Given the description of an element on the screen output the (x, y) to click on. 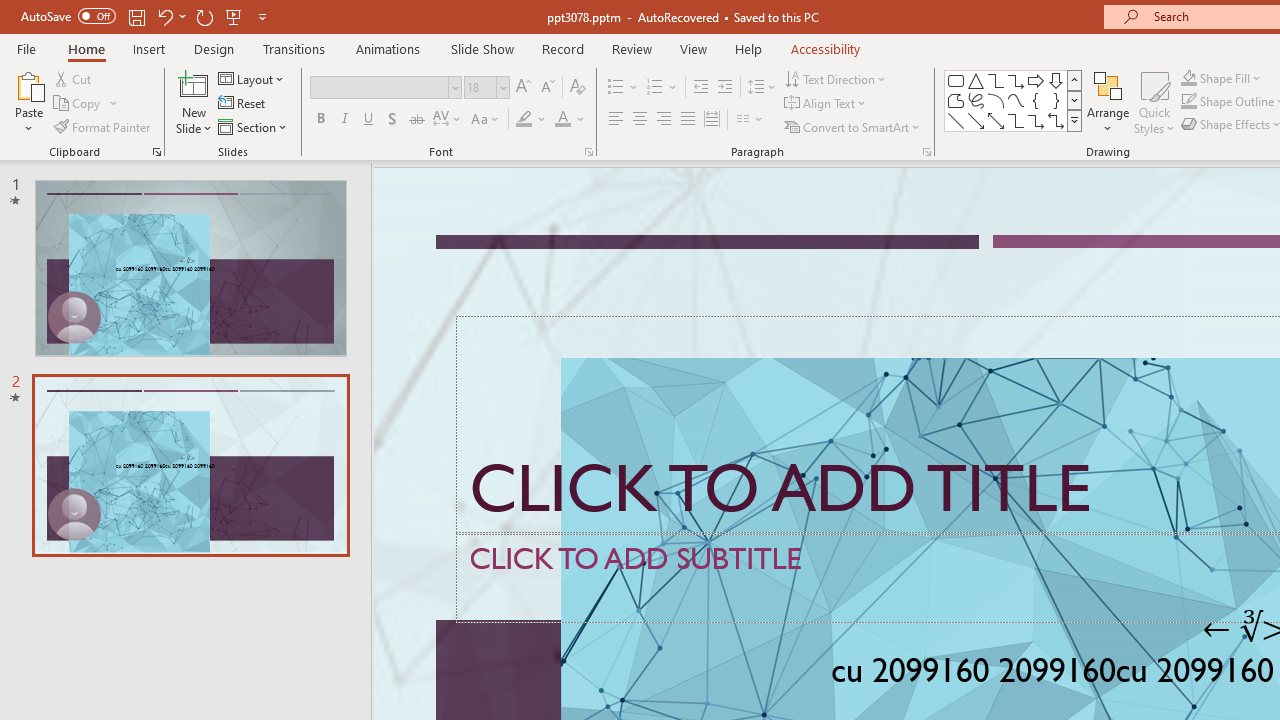
Connector: Elbow Double-Arrow (1055, 120)
